Given the description of an element on the screen output the (x, y) to click on. 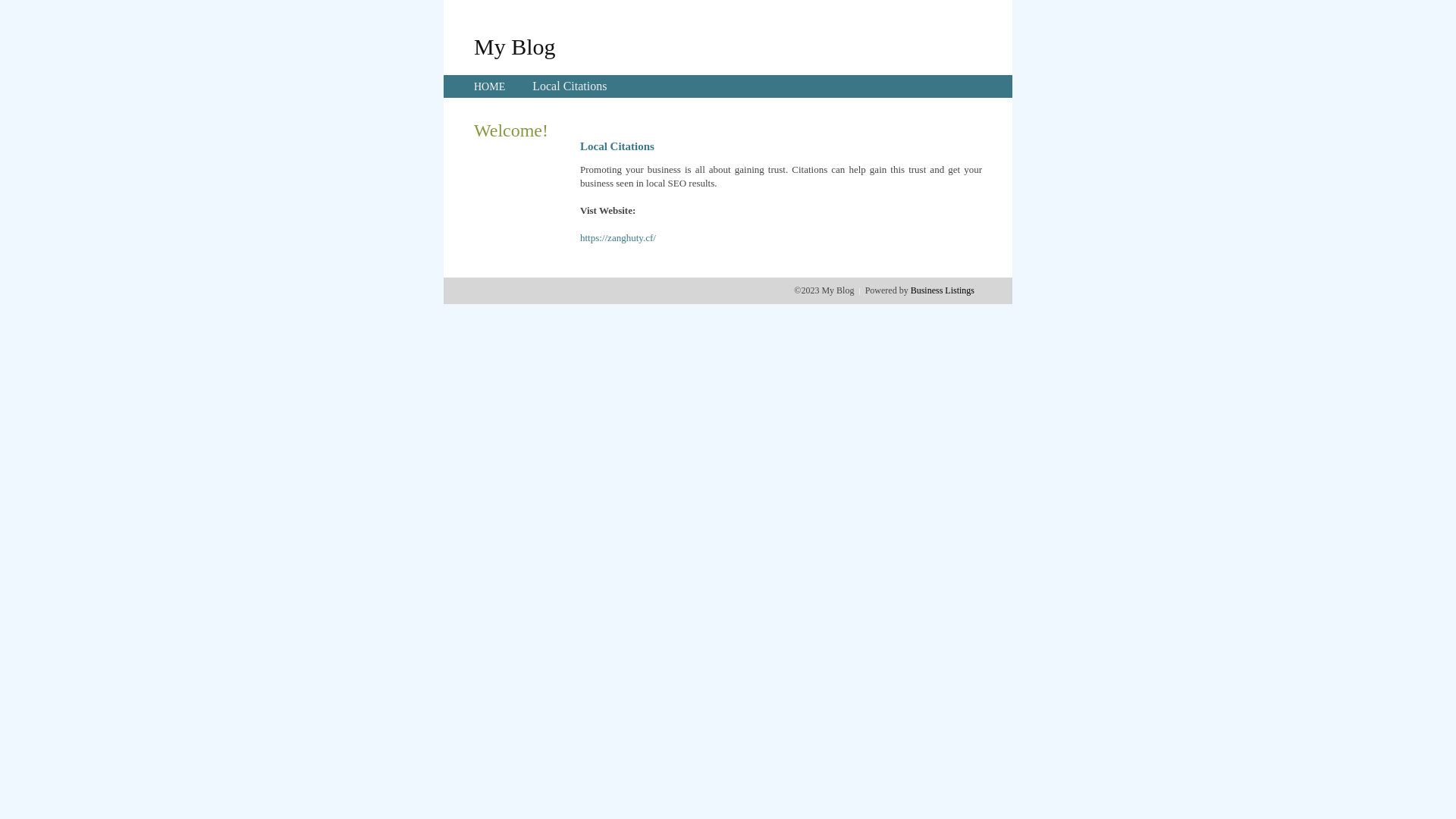
Local Citations Element type: text (569, 85)
https://zanghuty.cf/ Element type: text (617, 237)
My Blog Element type: text (514, 46)
Business Listings Element type: text (942, 290)
HOME Element type: text (489, 86)
